Given the description of an element on the screen output the (x, y) to click on. 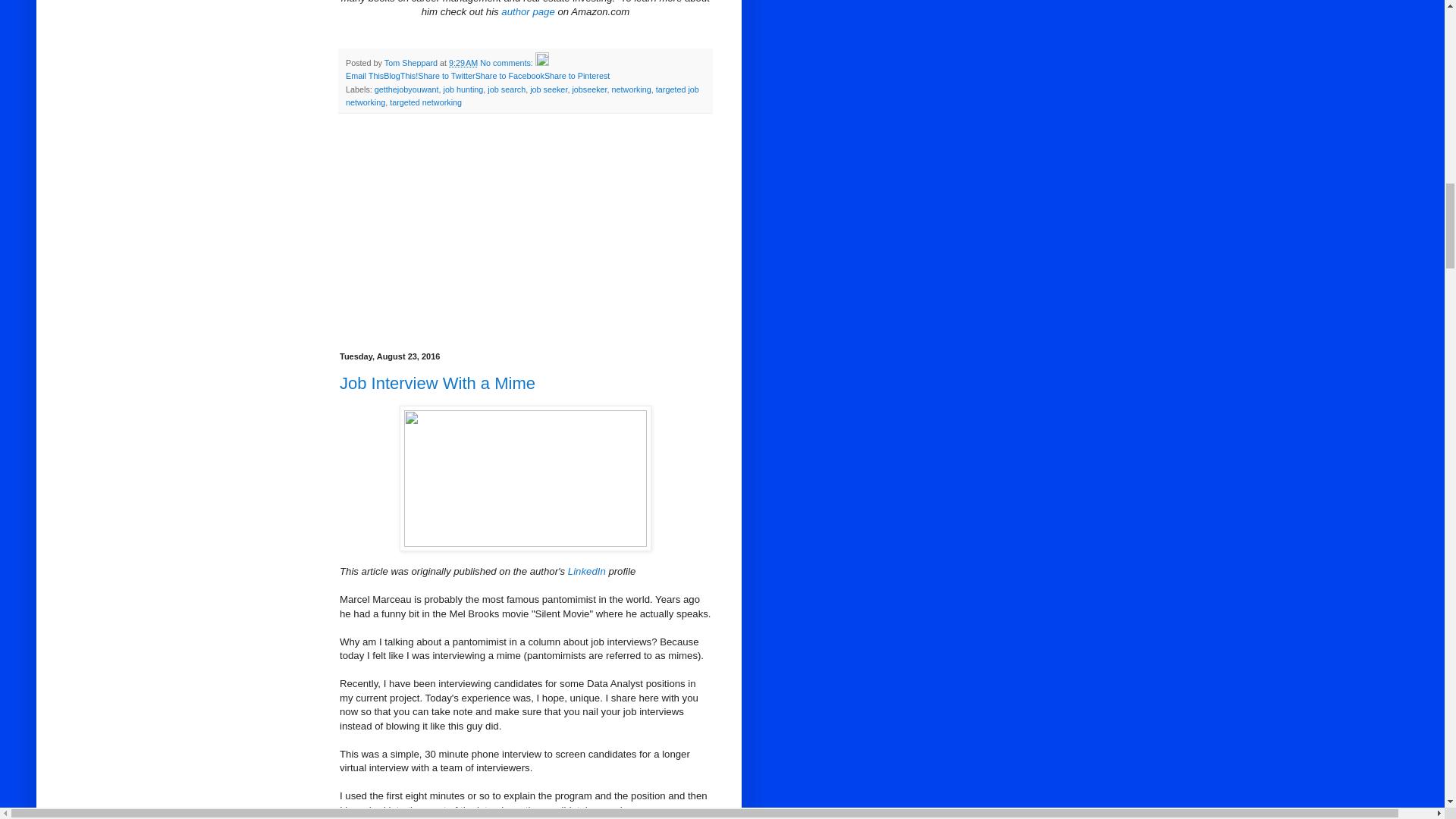
LinkedIn (586, 571)
author page (527, 11)
job hunting (462, 89)
No comments: (507, 62)
getthejobyouwant (406, 89)
job seeker (548, 89)
author profile (411, 62)
jobseeker (589, 89)
Email This (365, 75)
BlogThis! (400, 75)
BlogThis! (400, 75)
networking (630, 89)
Share to Twitter (445, 75)
permanent link (462, 62)
